Given the description of an element on the screen output the (x, y) to click on. 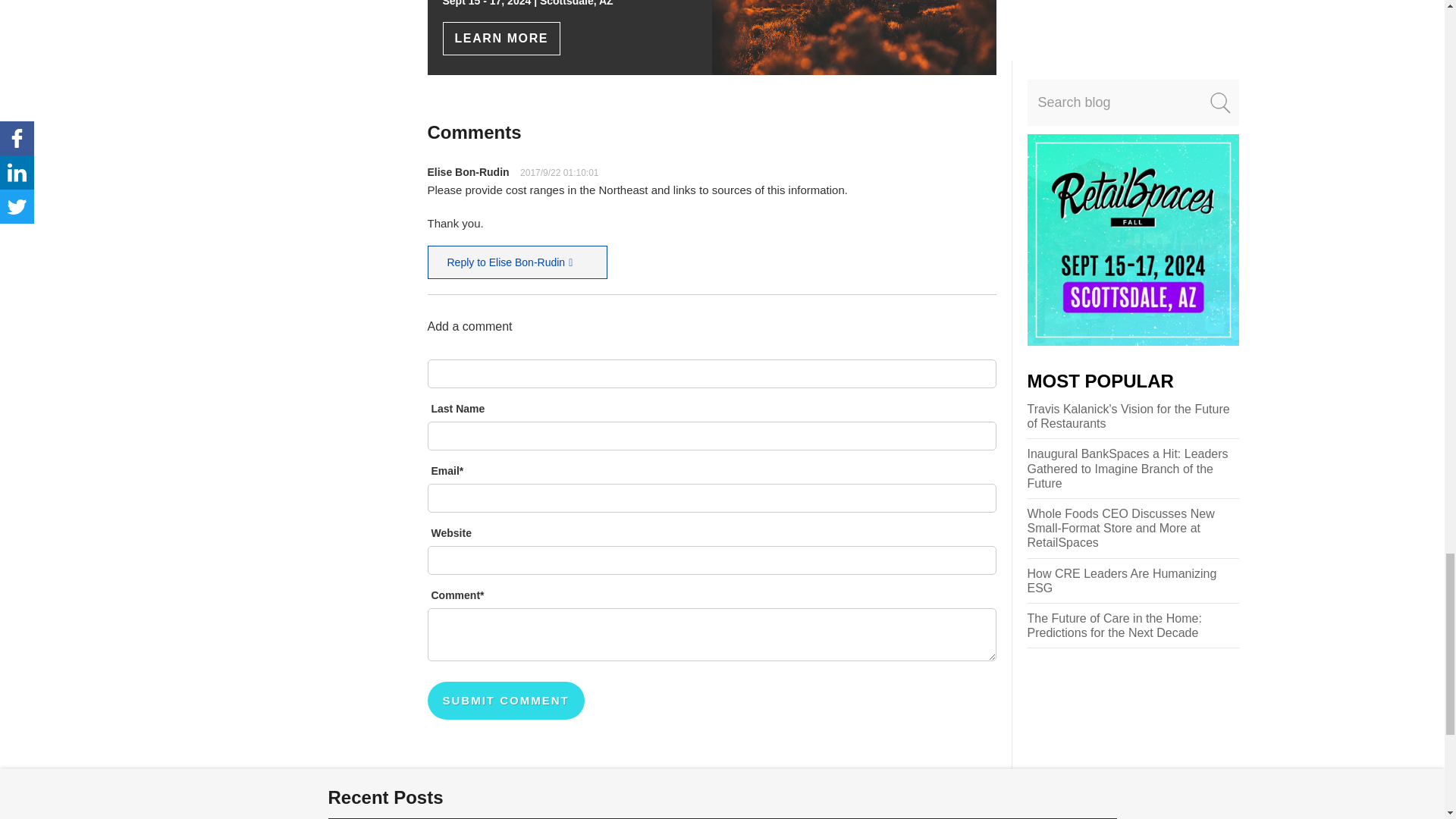
Reply to Elise Bon-Rudin (518, 262)
Submit Comment (506, 700)
Submit Comment (506, 700)
LEARN MORE (501, 38)
